Given the description of an element on the screen output the (x, y) to click on. 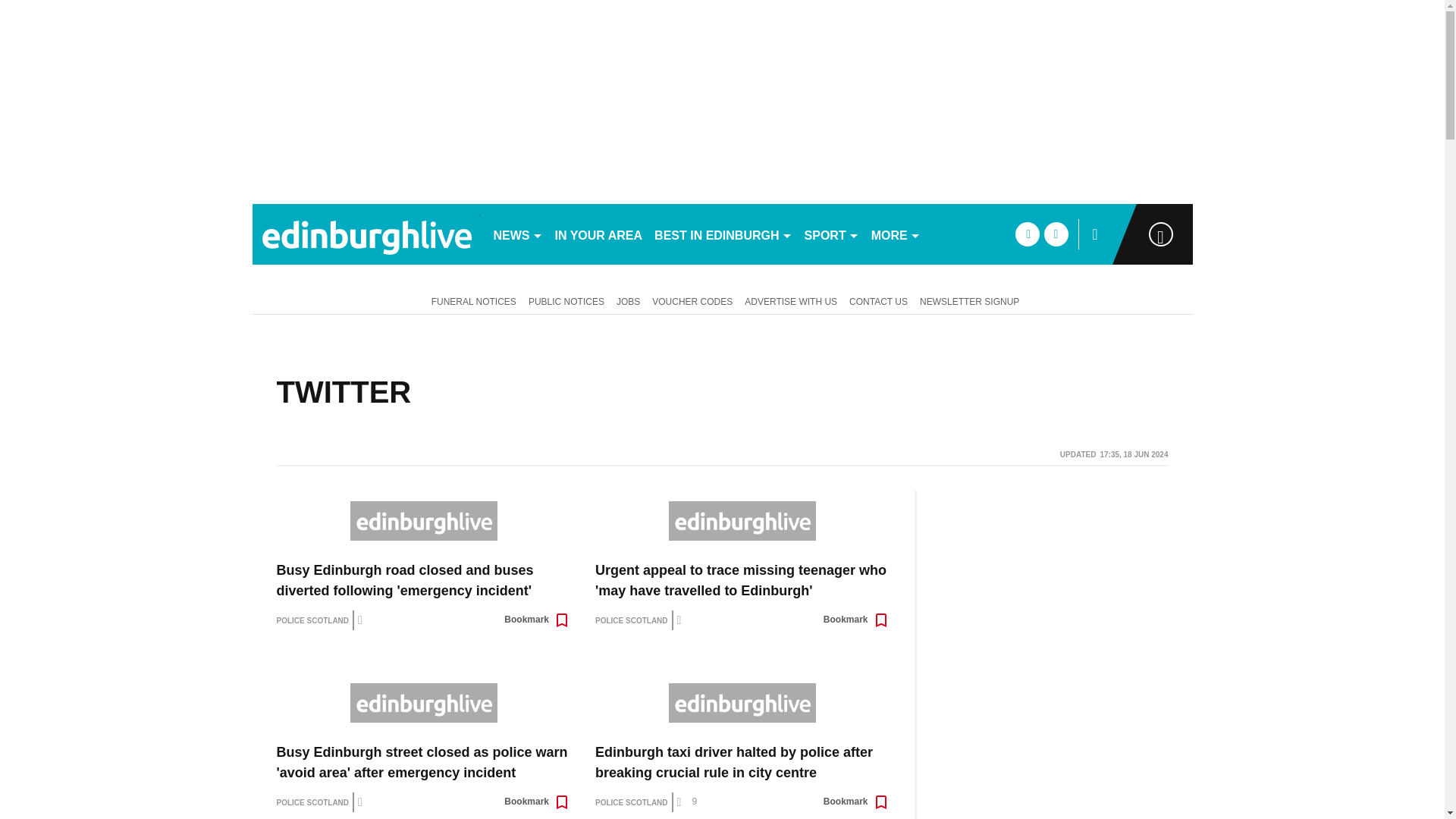
edinburghlive (365, 233)
BEST IN EDINBURGH (722, 233)
SPORT (830, 233)
NEWS (517, 233)
IN YOUR AREA (598, 233)
facebook (1026, 233)
twitter (1055, 233)
MORE (895, 233)
